Given the description of an element on the screen output the (x, y) to click on. 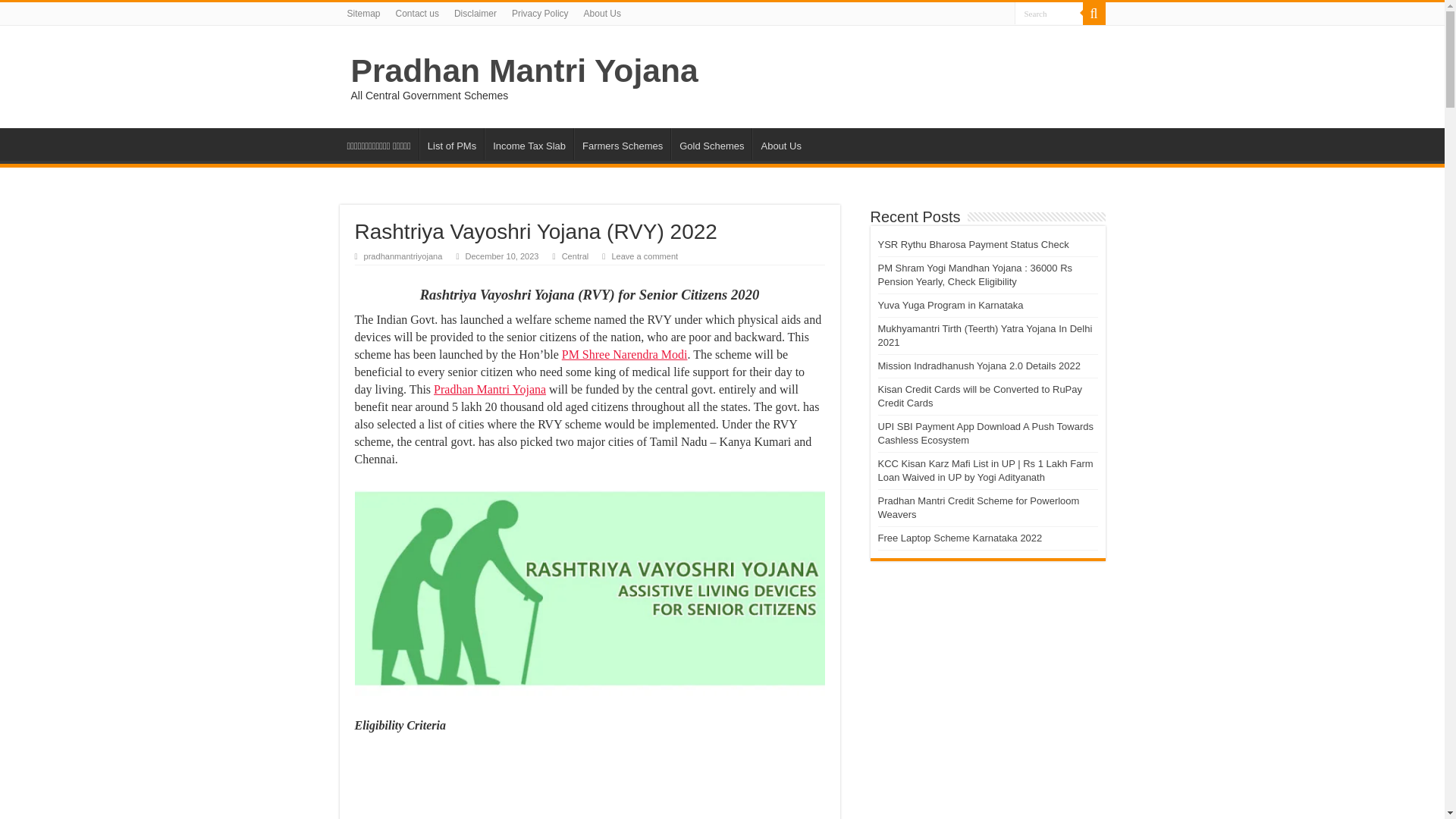
Central (575, 256)
Search (1094, 13)
Search (1048, 13)
Pradhan Mantri Yojana (523, 70)
PM Shree Narendra Modi (624, 354)
Search (1048, 13)
About Us (780, 143)
Search (1048, 13)
Income Tax Slab (528, 143)
Pradhan Mantri Yojana (489, 389)
Gold Schemes (711, 143)
Leave a comment (644, 256)
Disclaimer (474, 13)
YSR Rythu Bharosa Payment Status Check  (974, 244)
